Given the description of an element on the screen output the (x, y) to click on. 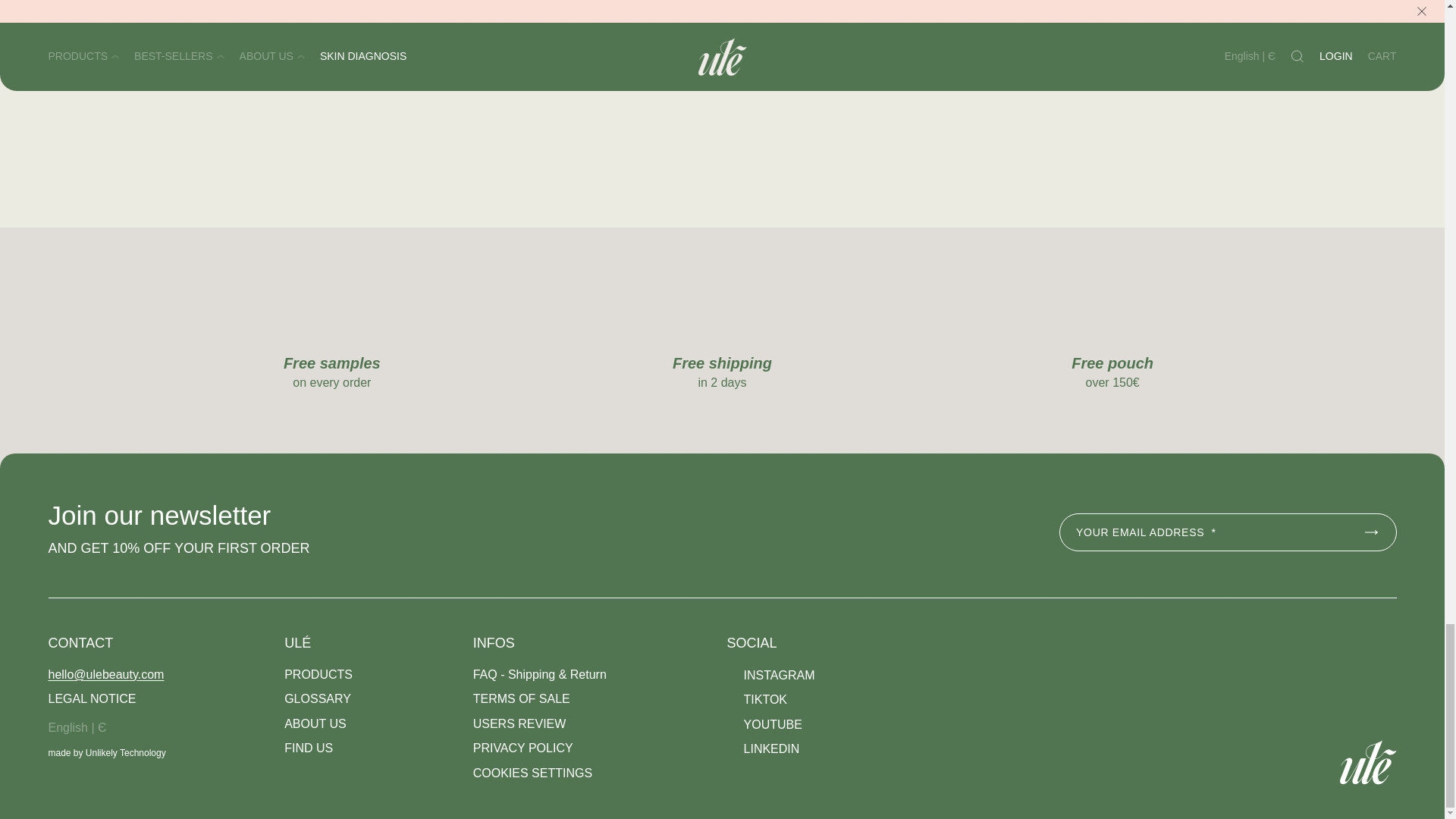
USERS REVIEW (519, 724)
LEGAL NOTICE (92, 699)
GLOSSARY (316, 699)
TERMS OF SALE (521, 699)
PRODUCTS (317, 675)
ABOUT US (314, 724)
made by Unlikely Technology (106, 753)
FIND US (308, 749)
PRIVACY POLICY (523, 749)
